Given the description of an element on the screen output the (x, y) to click on. 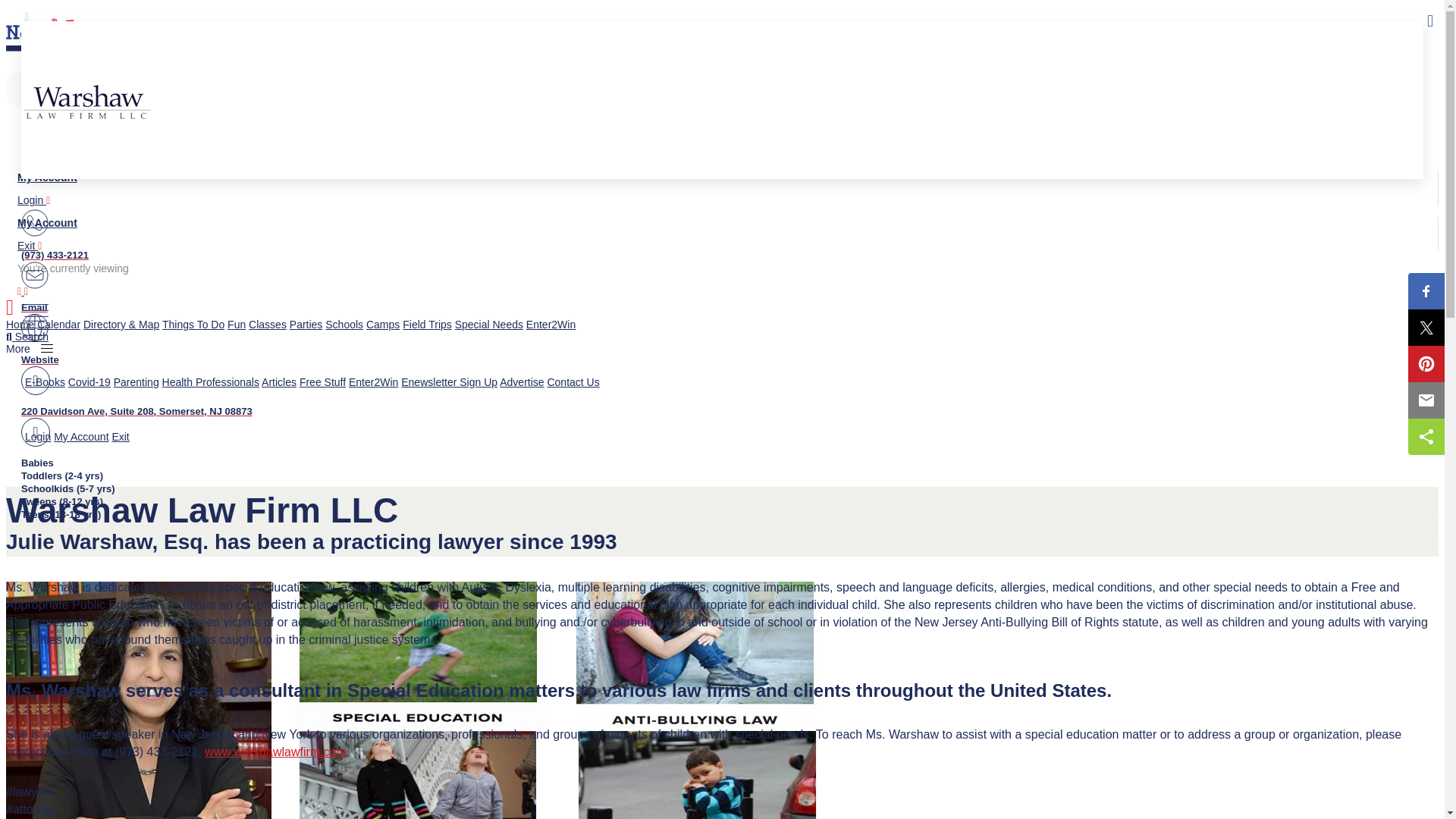
Free Stuff (322, 381)
My Account (47, 177)
Parties (285, 133)
Special Needs (339, 133)
Enter2Win (373, 381)
Articles (279, 381)
Schools (343, 324)
Camps (382, 324)
Classes (267, 324)
Fun (236, 324)
Exit (29, 245)
Enter2Win (550, 324)
Classes (170, 133)
Field Trips (427, 324)
Home (19, 324)
